Given the description of an element on the screen output the (x, y) to click on. 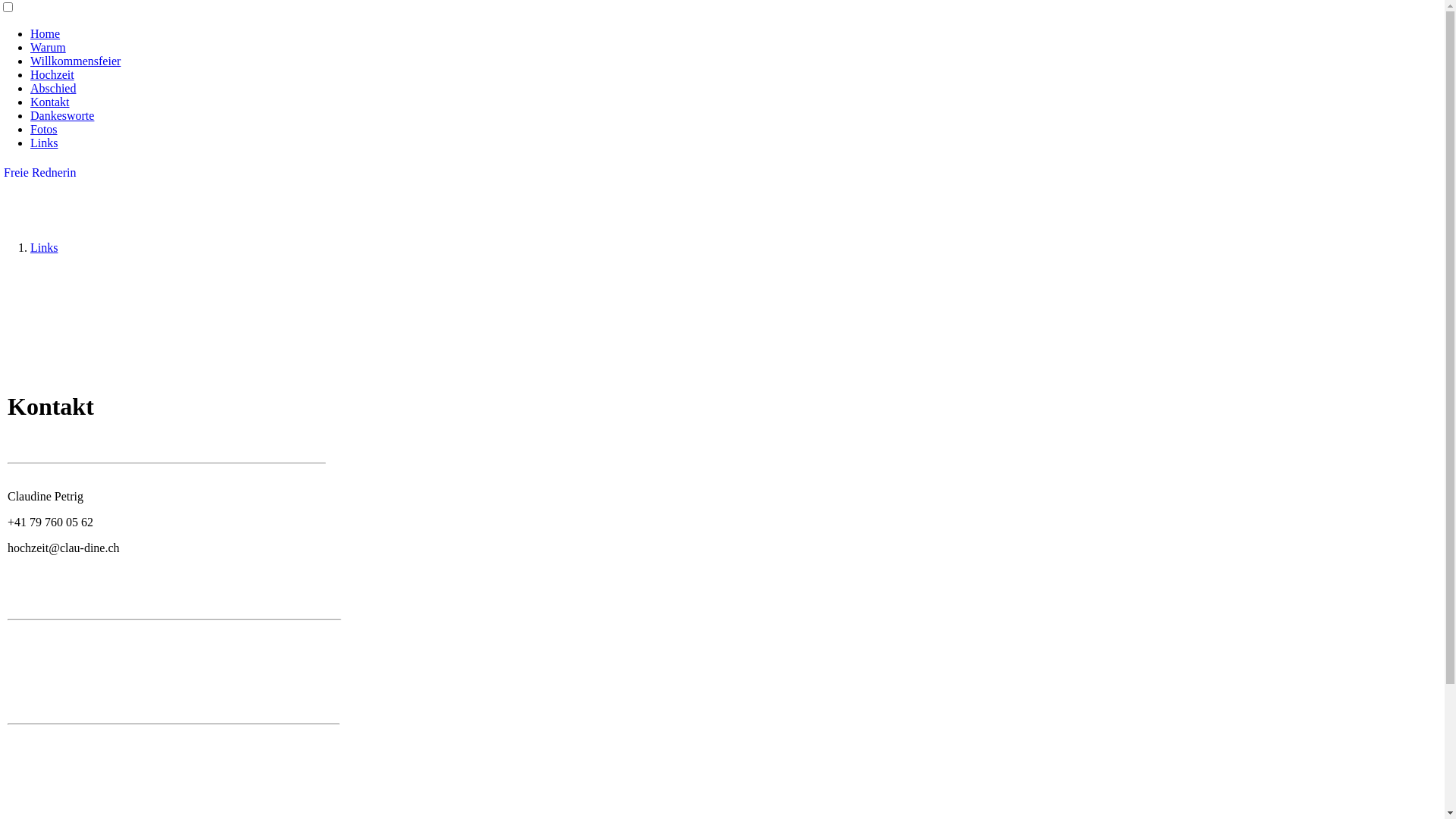
Fotos Element type: text (43, 128)
Warum Element type: text (47, 46)
Willkommensfeier Element type: text (75, 60)
Freie Rednerin Element type: text (39, 172)
Links Element type: text (43, 142)
Hochzeit Element type: text (52, 74)
Links Element type: text (43, 247)
Home Element type: text (44, 33)
Kontakt Element type: text (49, 101)
Dankesworte Element type: text (62, 115)
Abschied Element type: text (52, 87)
